Given the description of an element on the screen output the (x, y) to click on. 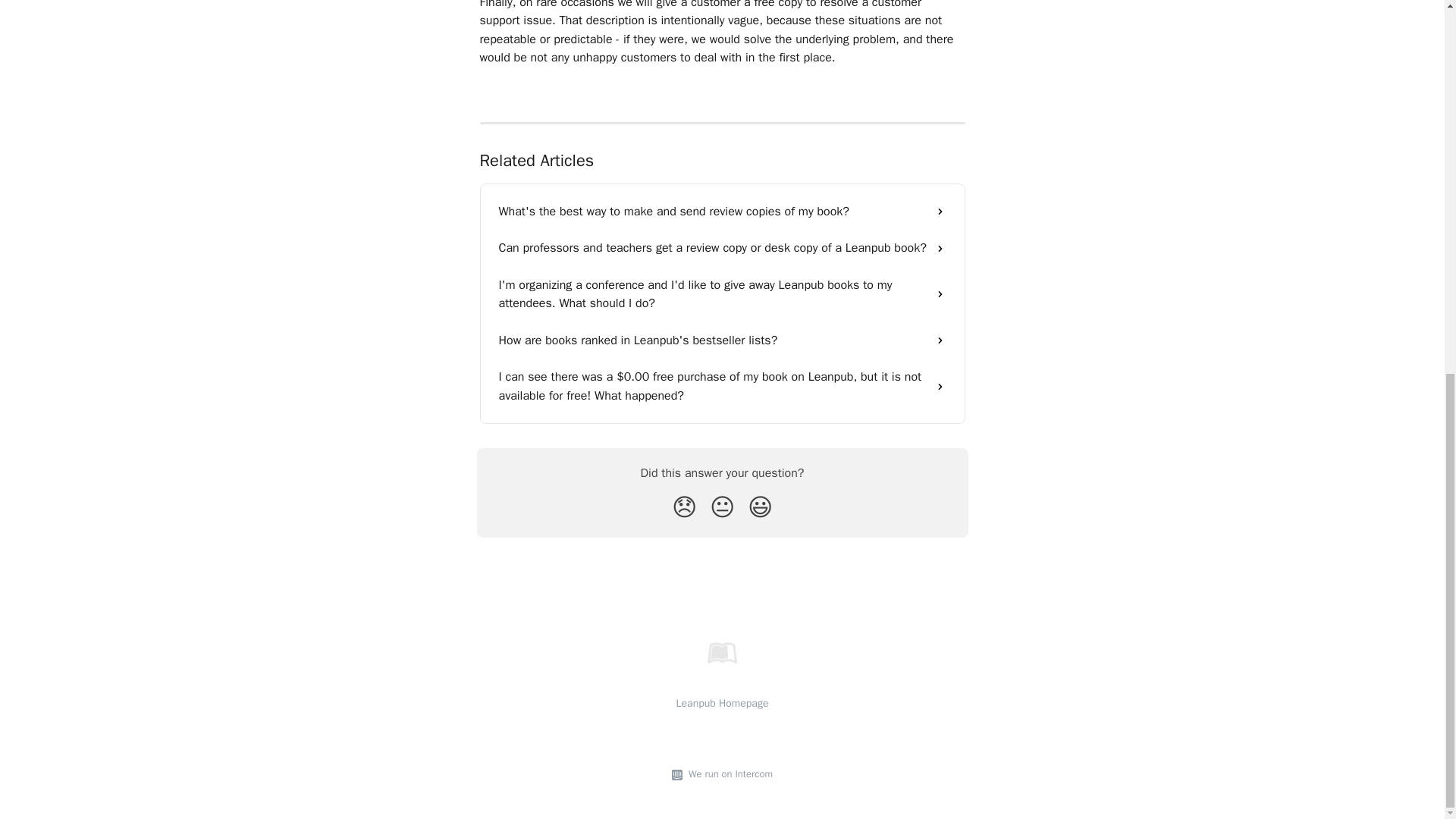
How are books ranked in Leanpub's bestseller lists? (722, 340)
Leanpub Homepage (722, 703)
We run on Intercom (727, 774)
